Given the description of an element on the screen output the (x, y) to click on. 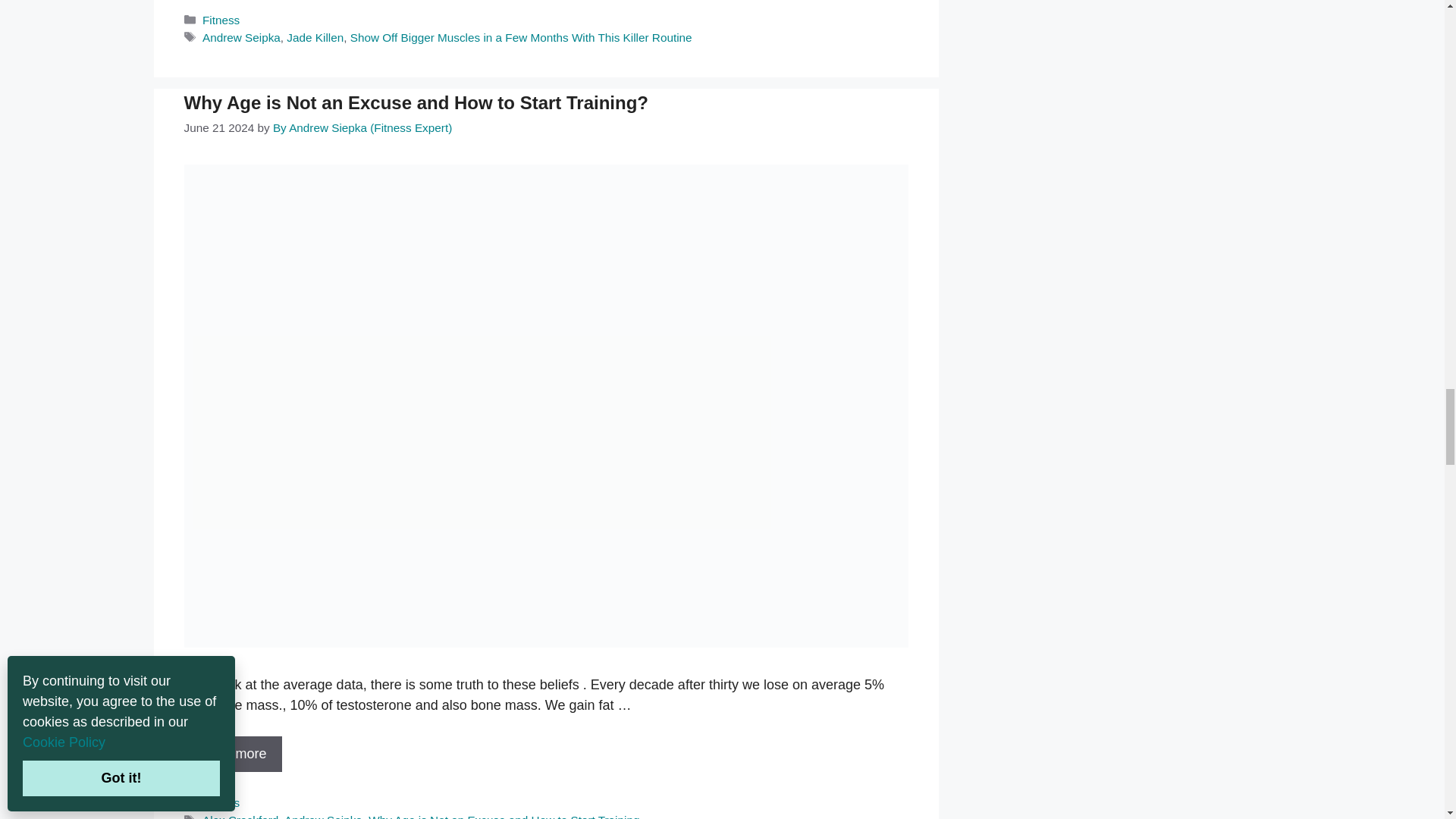
Why Age is Not an Excuse and How to Start Training? (232, 754)
